Given the description of an element on the screen output the (x, y) to click on. 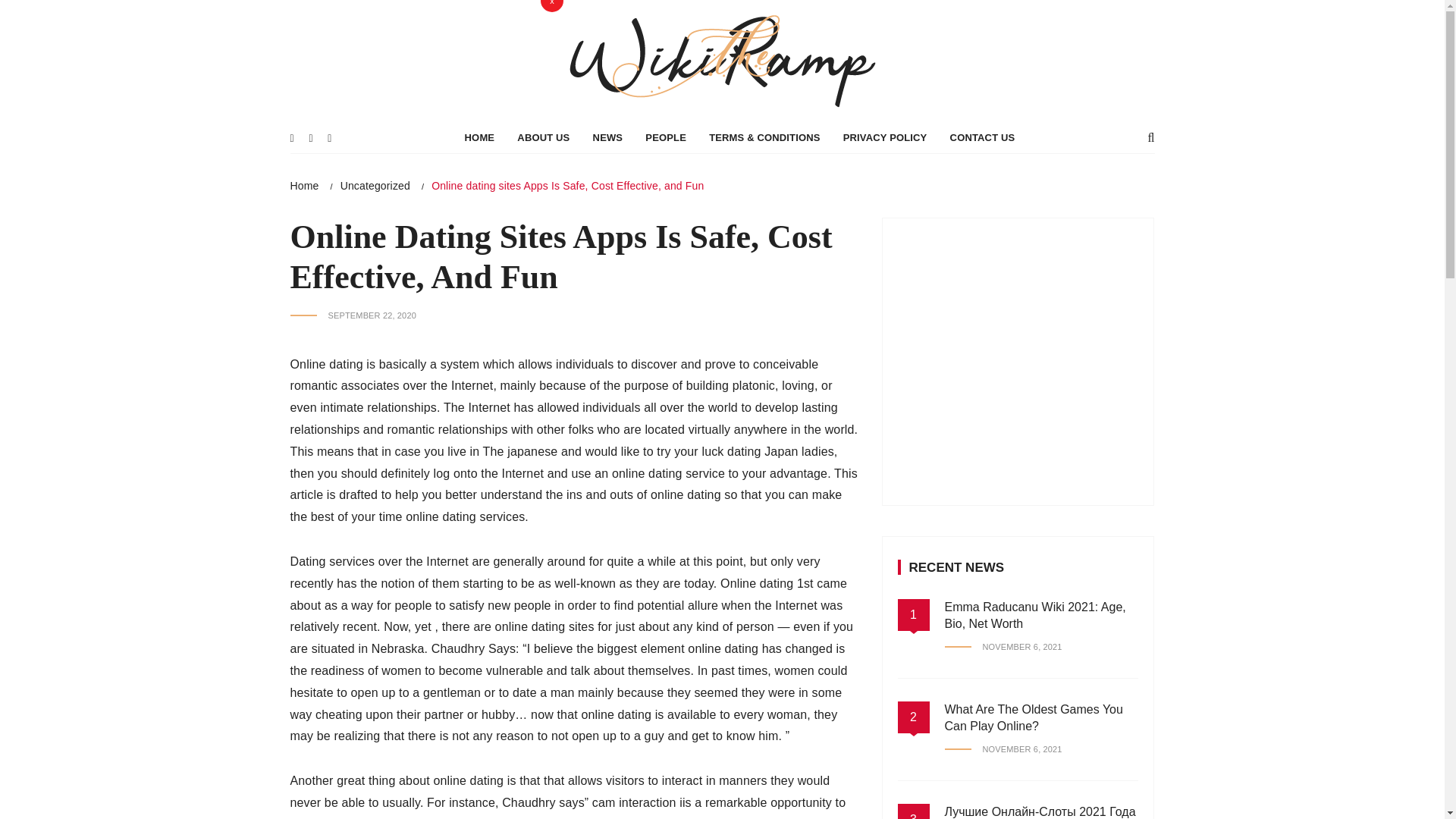
PEOPLE (665, 137)
NEWS (607, 137)
Home (303, 185)
SEPTEMBER 22, 2020 (351, 315)
ABOUT US (542, 137)
Uncategorized (375, 185)
What Are The Oldest Games You Can Play Online? (1033, 717)
Emma Raducanu Wiki 2021: Age, Bio, Net Worth (1034, 614)
Search (420, 15)
NOVEMBER 6, 2021 (1003, 748)
PRIVACY POLICY (885, 137)
CONTACT US (982, 137)
HOME (479, 137)
NOVEMBER 6, 2021 (1003, 646)
